Given the description of an element on the screen output the (x, y) to click on. 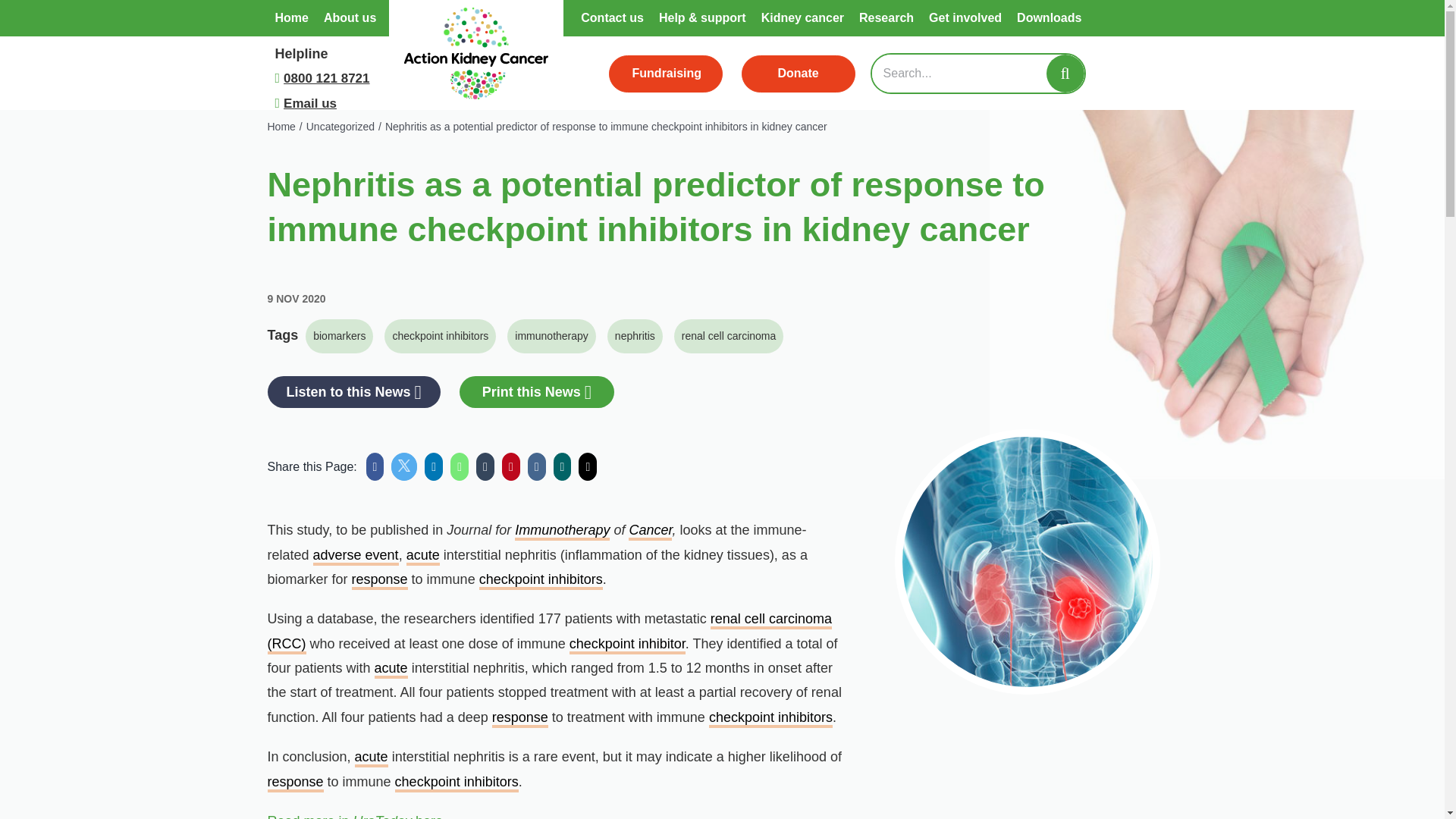
Home (291, 18)
Downloads (1048, 18)
Donate (798, 73)
Fundraising (665, 73)
Uncategorized (339, 126)
0800 121 8721 (326, 78)
Home (280, 126)
Get involved (964, 18)
Research (886, 18)
checkpoint inhibitors (440, 335)
About us (349, 18)
immunotherapy (550, 335)
Contact us (611, 18)
biomarkers (338, 335)
nephritis (634, 335)
